Given the description of an element on the screen output the (x, y) to click on. 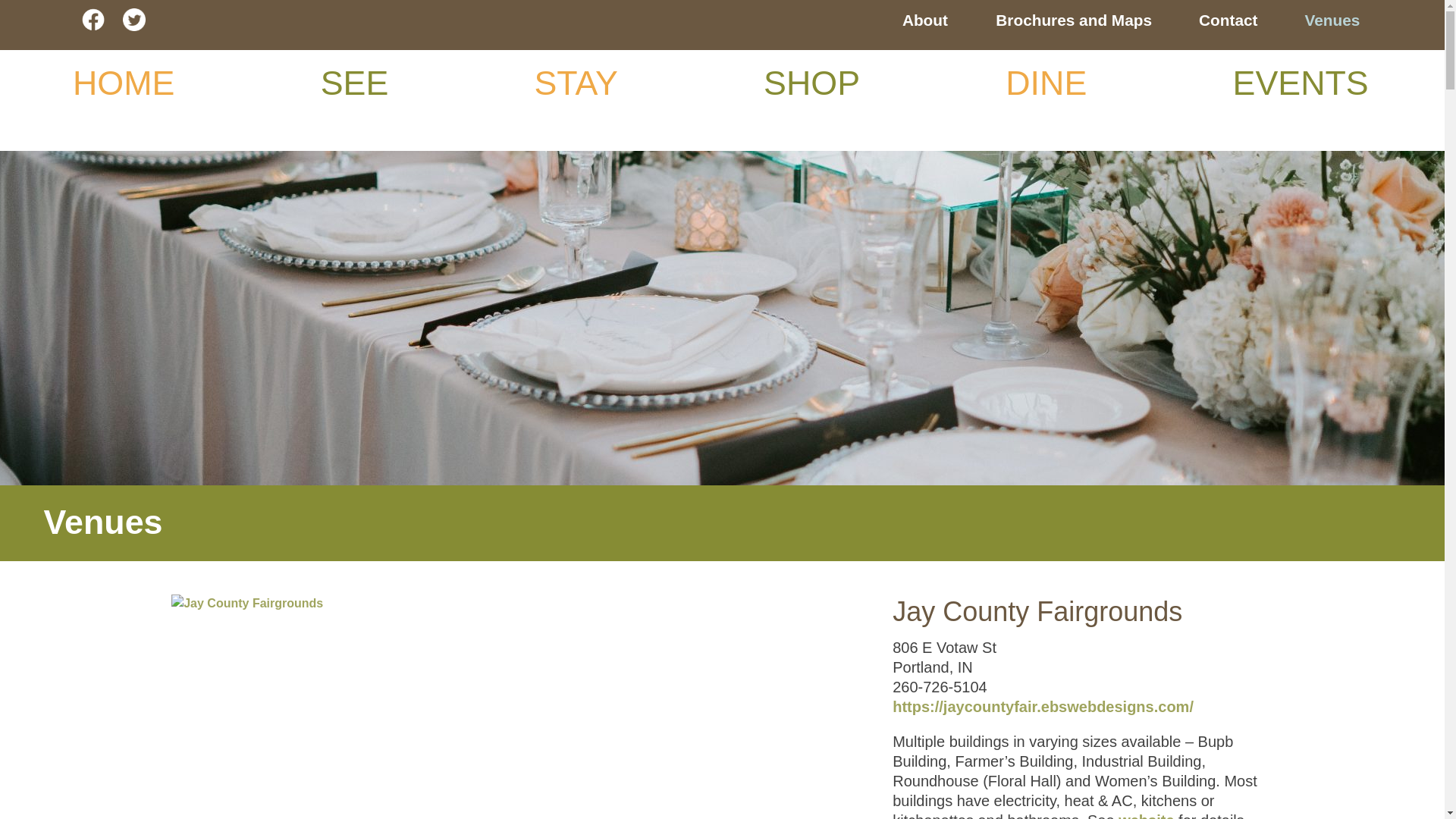
STAY (575, 82)
HOME (123, 82)
Brochures and Maps (1073, 19)
SHOP (811, 82)
Contact (1227, 19)
DINE (1046, 82)
EVENTS (1300, 82)
Visit Jay County (42, 20)
About (924, 19)
SEE (354, 82)
Venues (1331, 19)
